Given the description of an element on the screen output the (x, y) to click on. 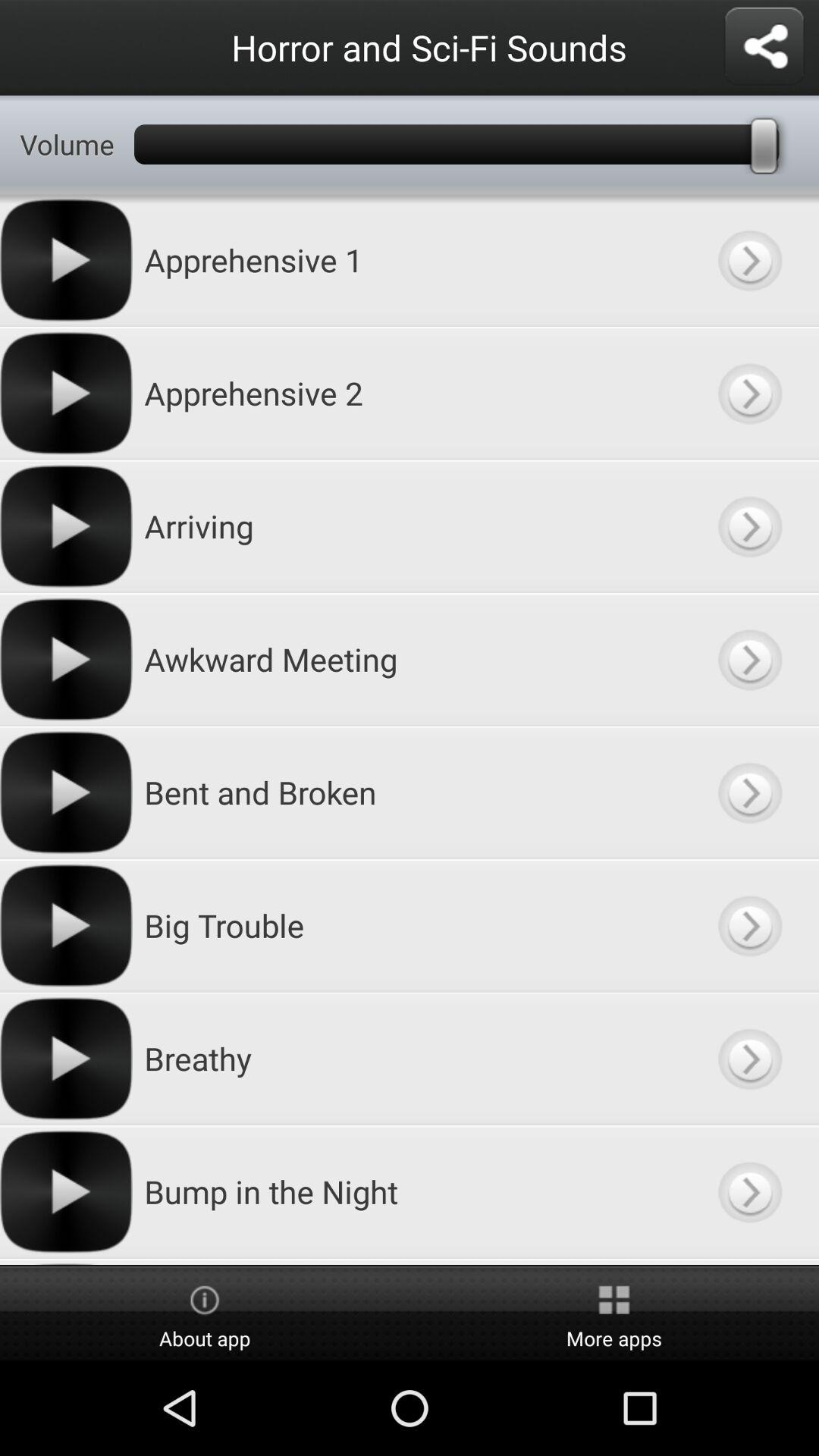
select option (749, 526)
